Given the description of an element on the screen output the (x, y) to click on. 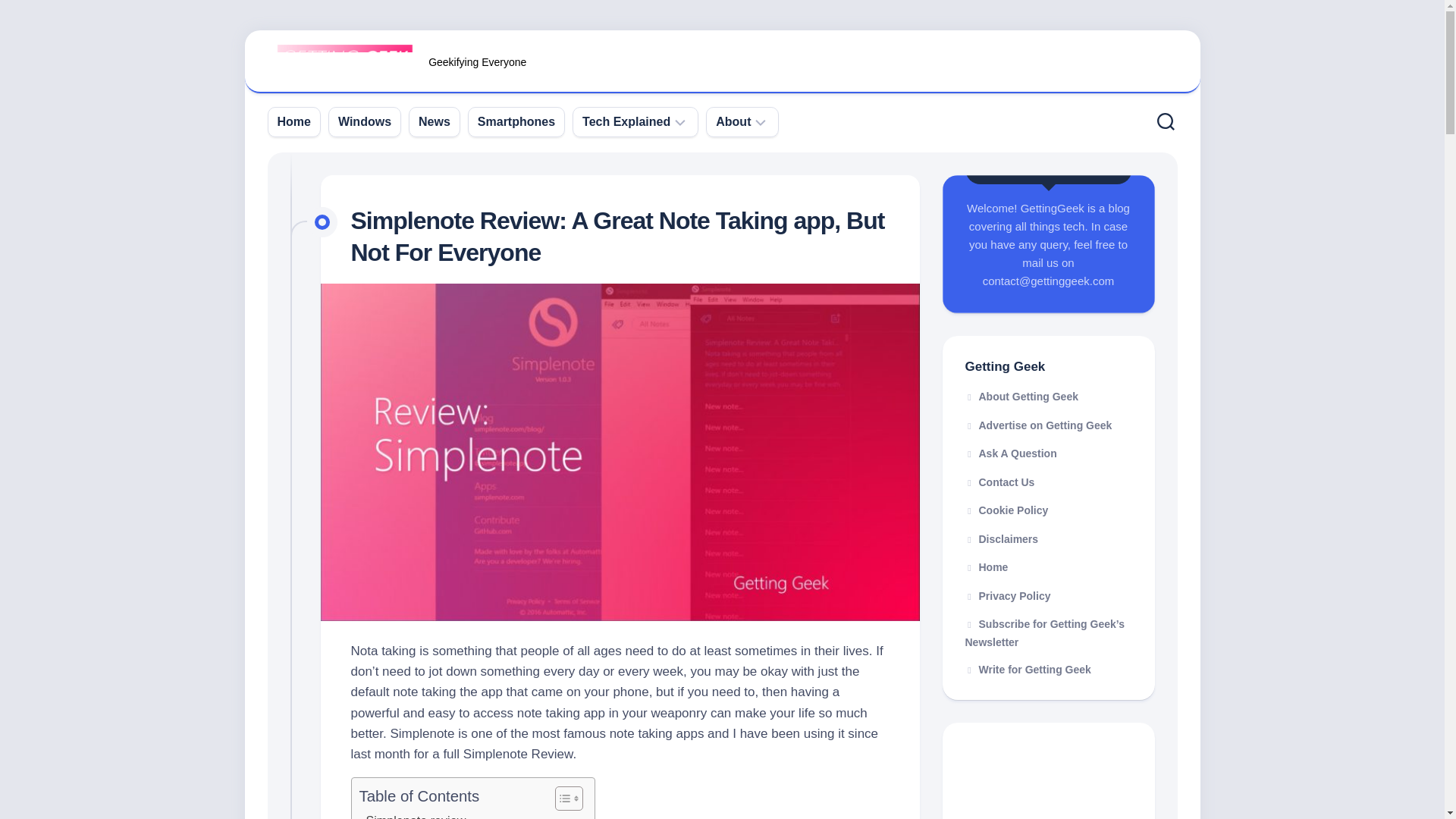
Simplenote review (412, 815)
Home (294, 121)
About (733, 121)
Geekifying Everyone (721, 62)
News (434, 121)
Windows (364, 121)
Simplenote review (412, 815)
Smartphones (515, 121)
Tech Explained (625, 121)
